Given the description of an element on the screen output the (x, y) to click on. 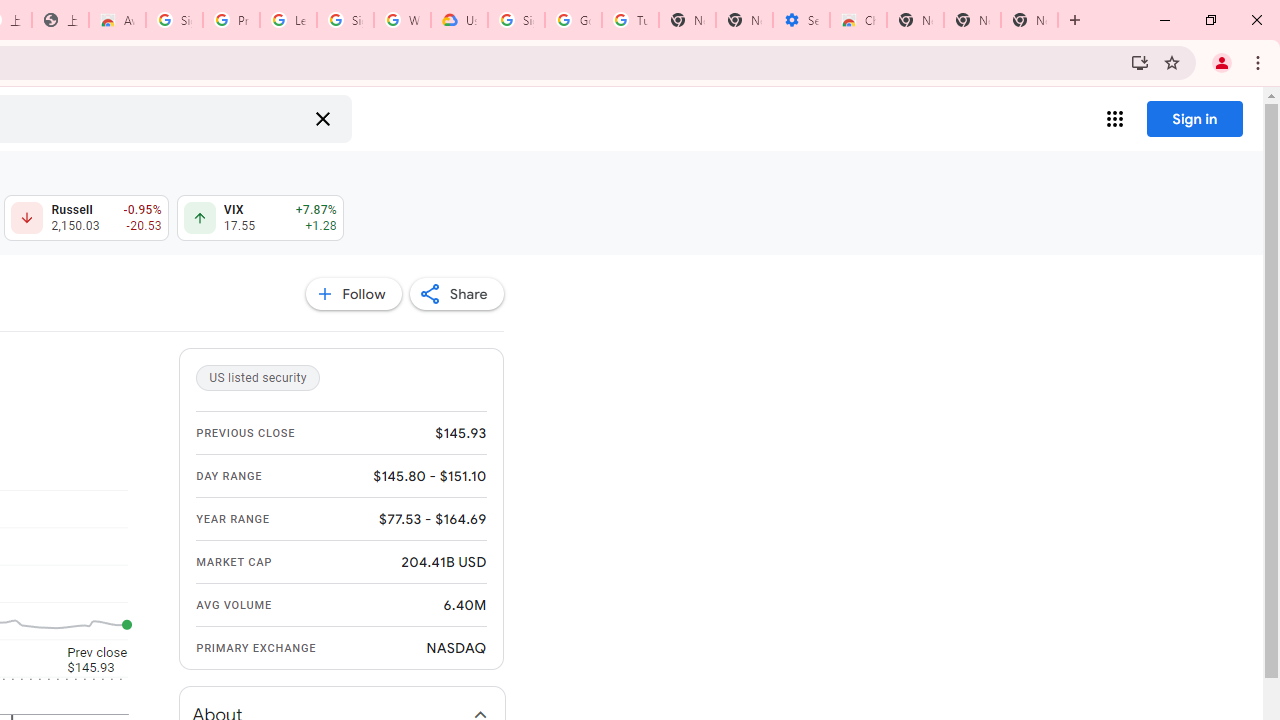
VIX 17.55 Up by 7.87% +1.28 (260, 218)
Russell 2,150.03 Down by 0.95% -20.53 (85, 218)
Install Google Finance (1139, 62)
New Tab (915, 20)
Chrome Web Store - Accessibility extensions (858, 20)
Turn cookies on or off - Computer - Google Account Help (630, 20)
Who are Google's partners? - Privacy and conditions - Google (402, 20)
Awesome Screen Recorder & Screenshot - Chrome Web Store (116, 20)
Sign in - Google Accounts (174, 20)
Settings - Accessibility (801, 20)
